Given the description of an element on the screen output the (x, y) to click on. 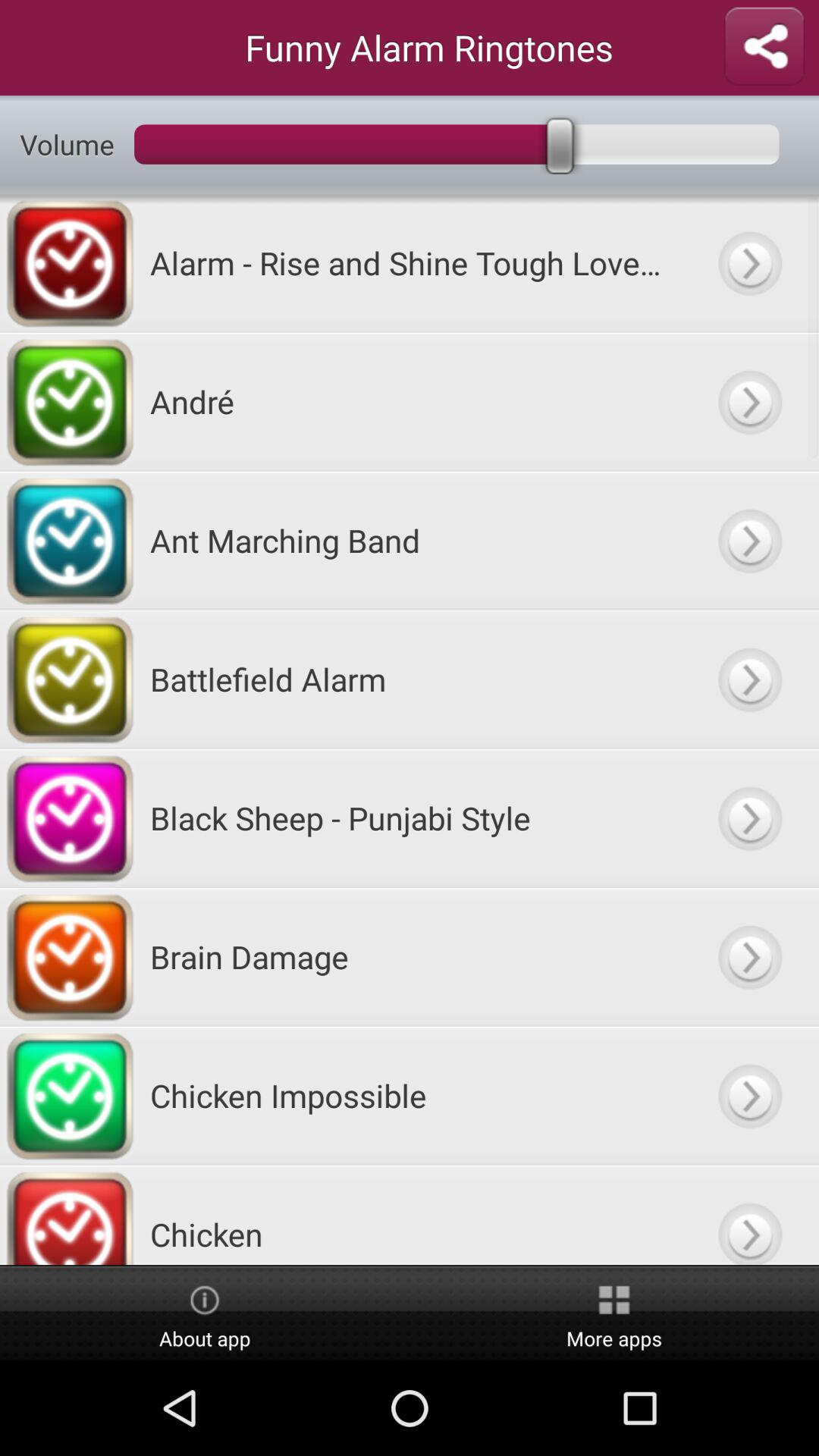
go next (749, 1095)
